Given the description of an element on the screen output the (x, y) to click on. 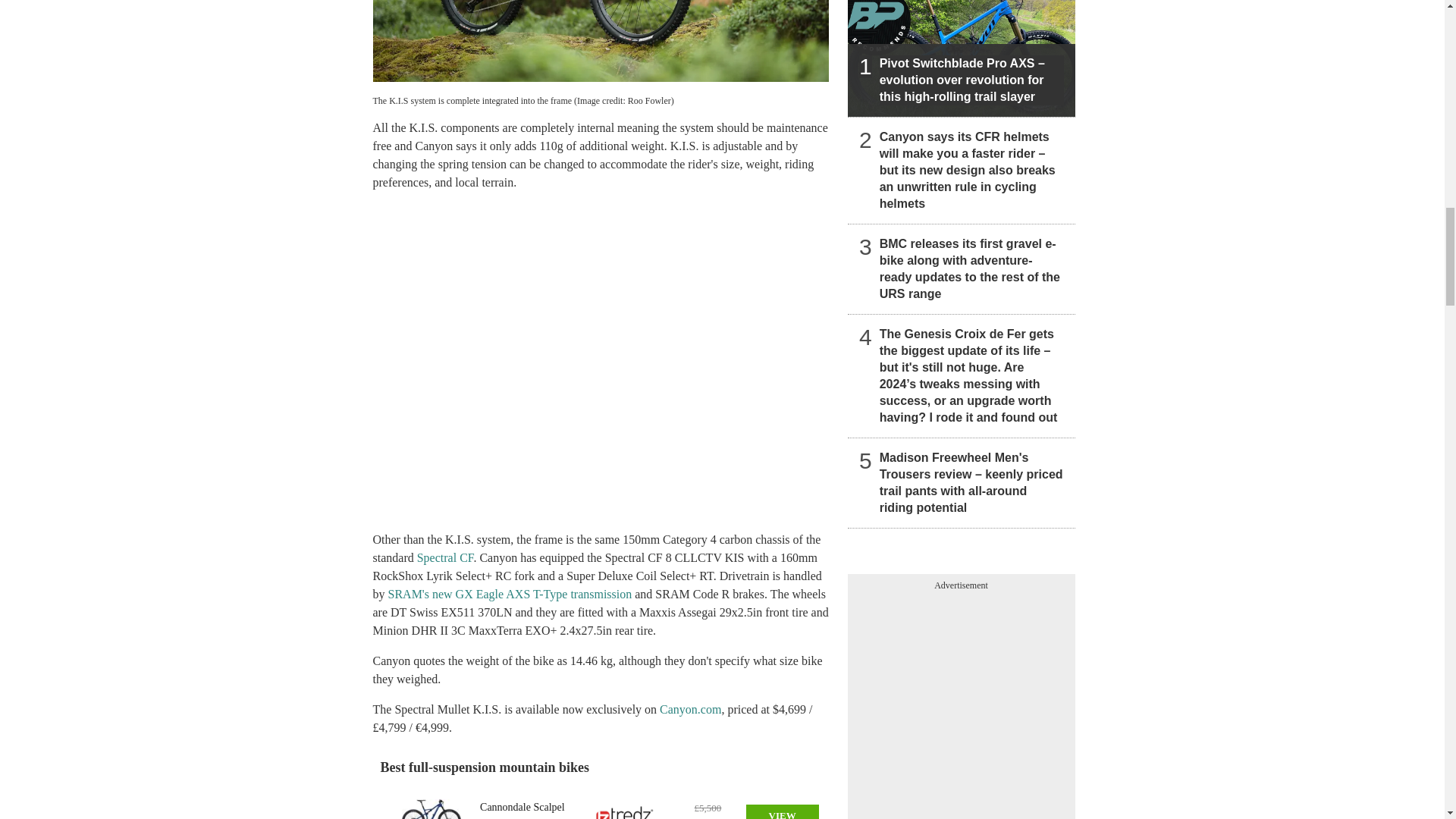
Tredz Limited (624, 809)
SRAM's new GX Eagle AXS T-Type transmission (509, 594)
Cannondale Scalpel SE Mountain Bike (528, 809)
Cannondale Scalpel Carbon SE... (431, 804)
Spectral CF (445, 557)
VIEW (781, 811)
Canyon.com (689, 708)
